Given the description of an element on the screen output the (x, y) to click on. 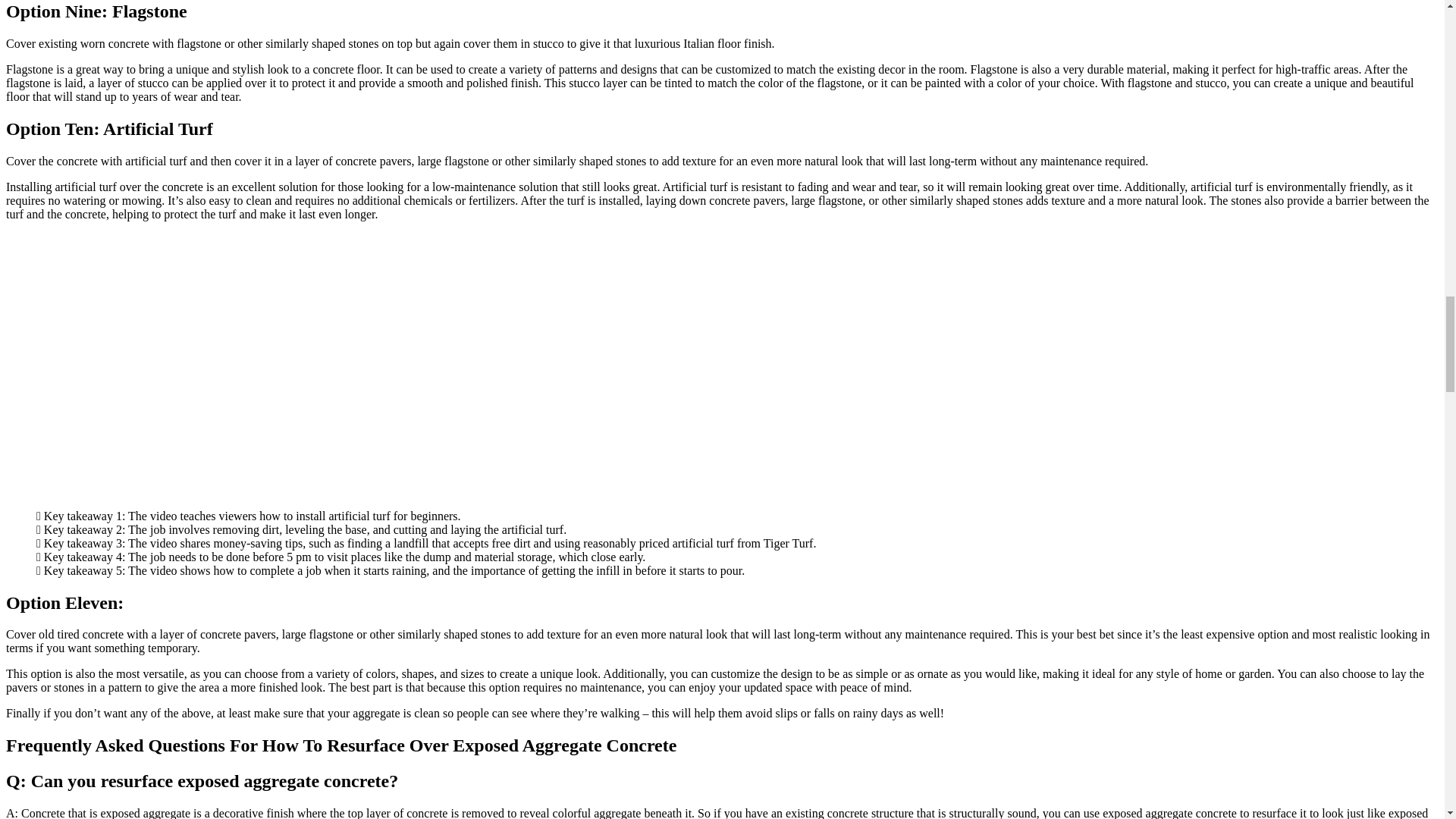
How to Install Artificial Turf for Beginners DIY (278, 369)
